Given the description of an element on the screen output the (x, y) to click on. 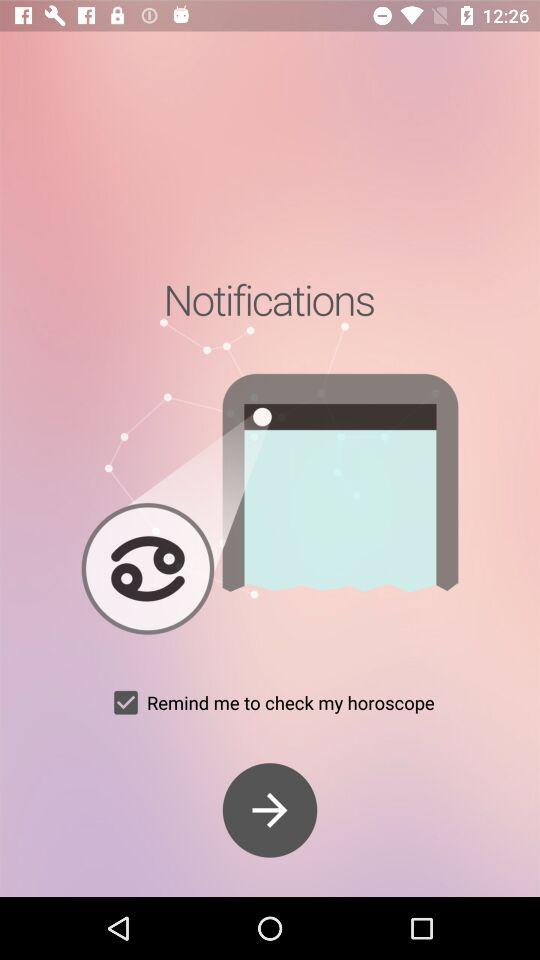
select remind me to item (269, 702)
